Given the description of an element on the screen output the (x, y) to click on. 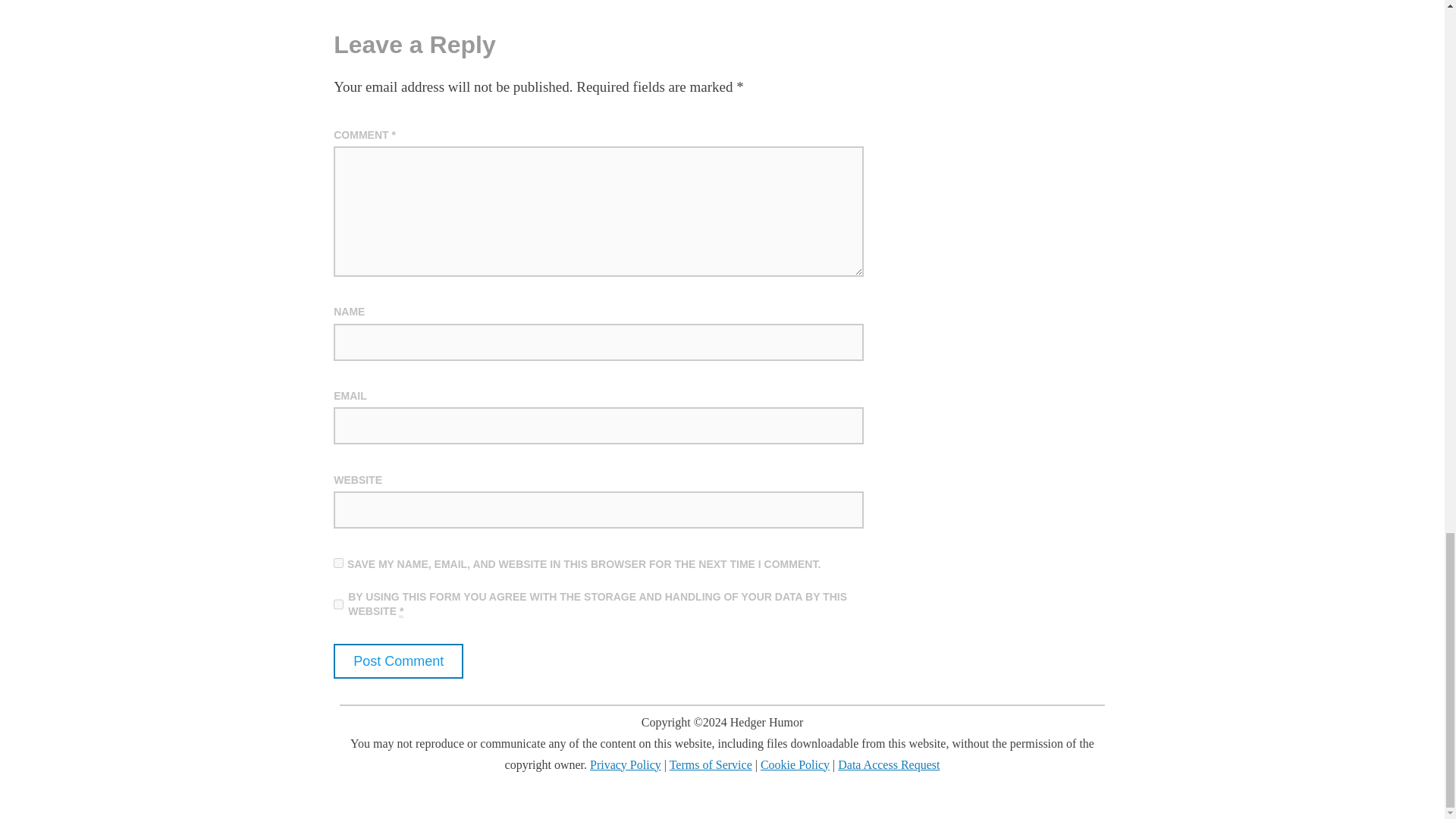
Cookie Policy (794, 764)
Post Comment (398, 660)
Data Access Request (888, 764)
Privacy Policy (625, 764)
Post Comment (398, 660)
Terms of Service (710, 764)
yes (338, 562)
